Given the description of an element on the screen output the (x, y) to click on. 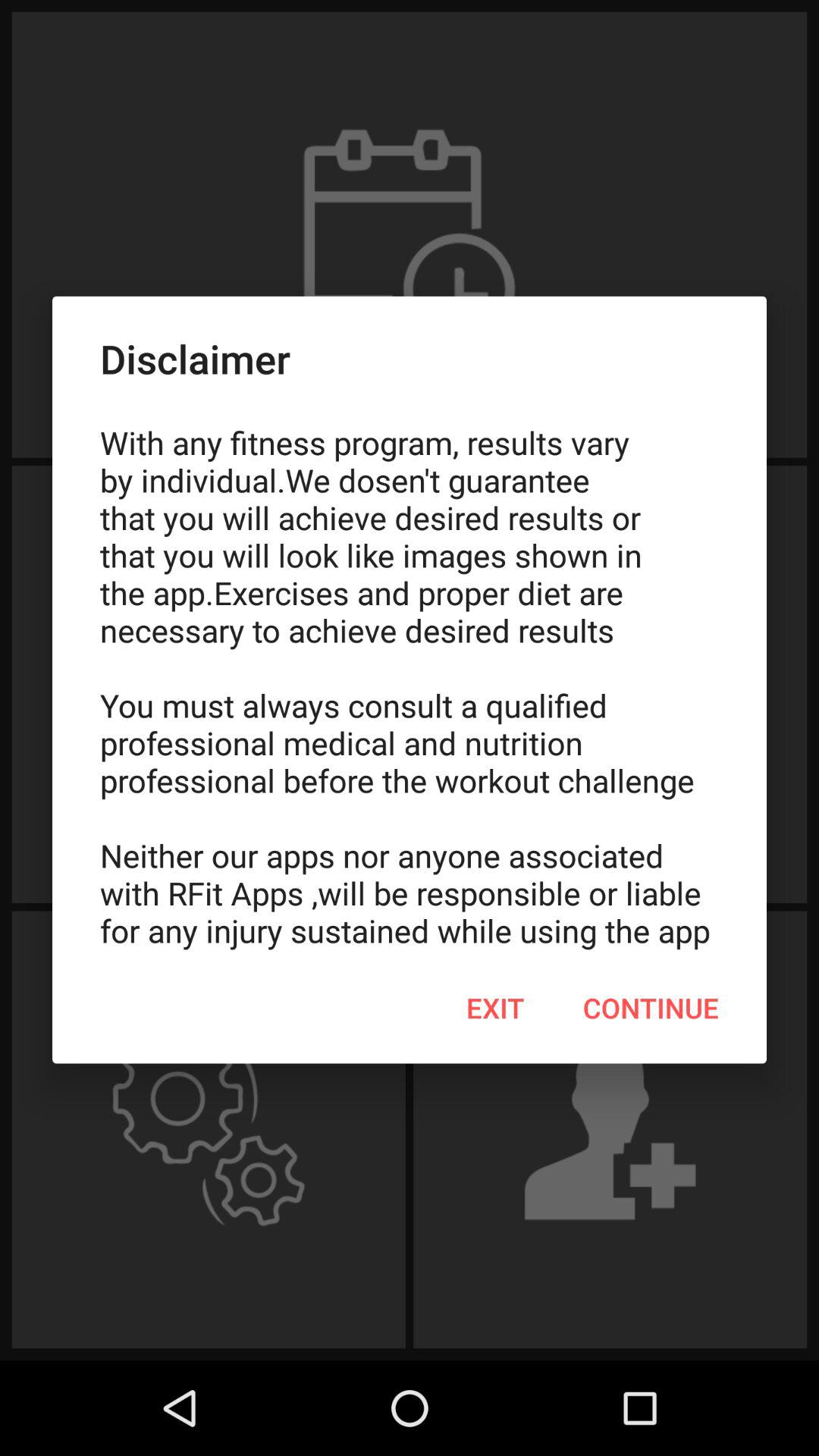
swipe to continue icon (650, 1007)
